Given the description of an element on the screen output the (x, y) to click on. 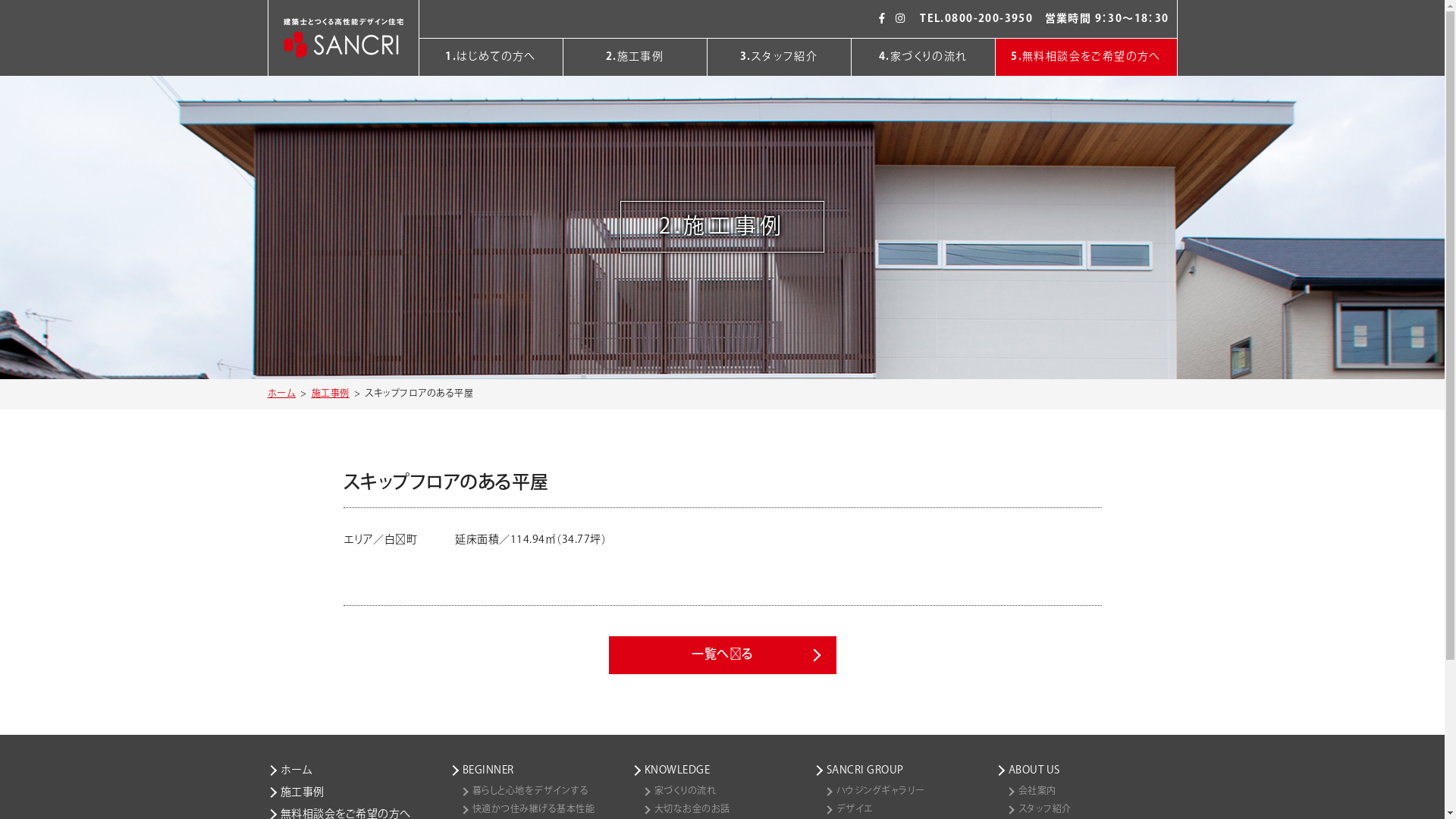
0800-200-3950 Element type: text (988, 18)
BEGINNER Element type: text (539, 770)
SANCRI GROUP Element type: text (903, 770)
KNOWLEDGE Element type: text (721, 770)
ABOUT US Element type: text (1085, 770)
